Given the description of an element on the screen output the (x, y) to click on. 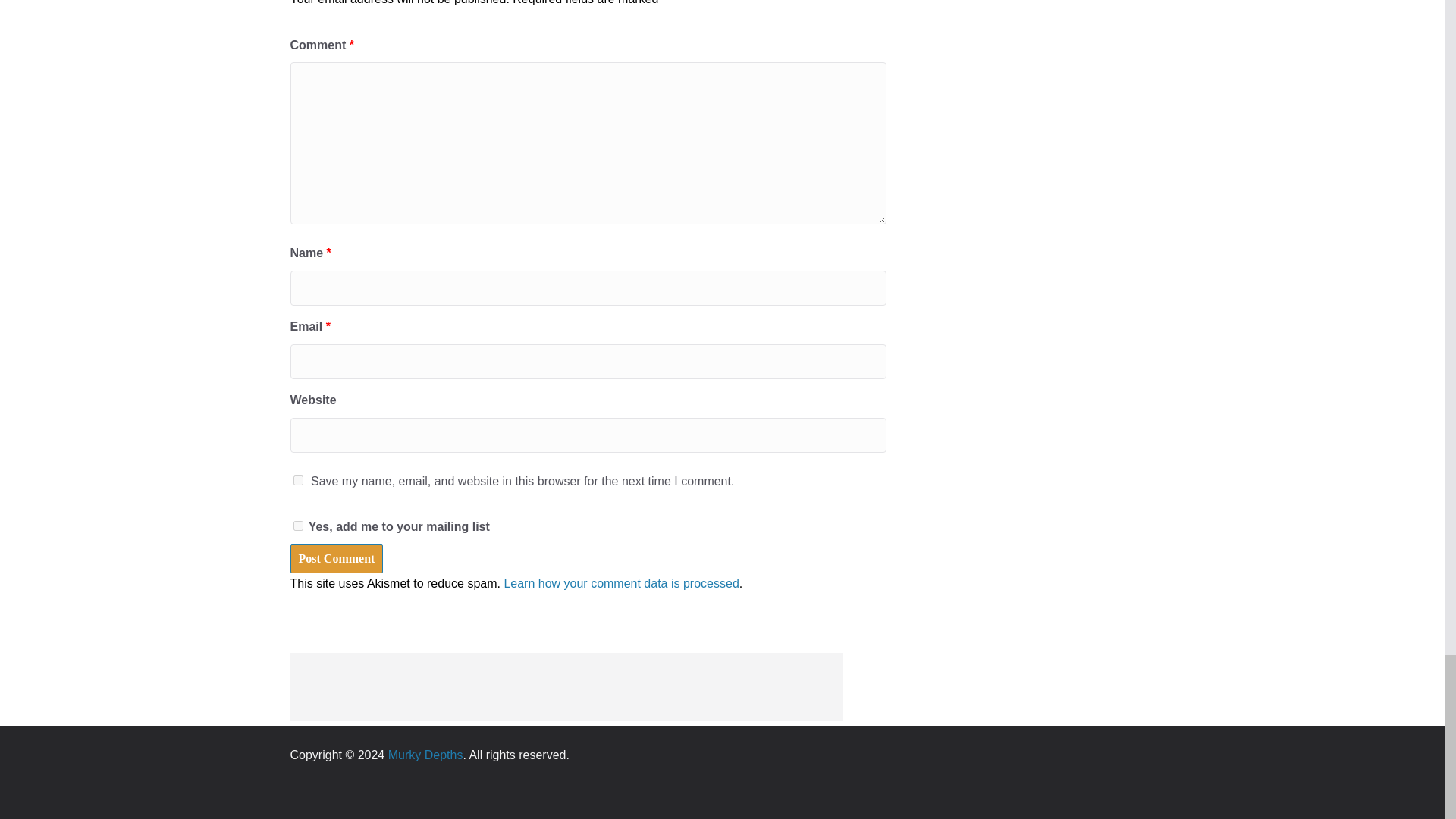
Post Comment (335, 558)
1 (297, 525)
yes (297, 480)
